Given the description of an element on the screen output the (x, y) to click on. 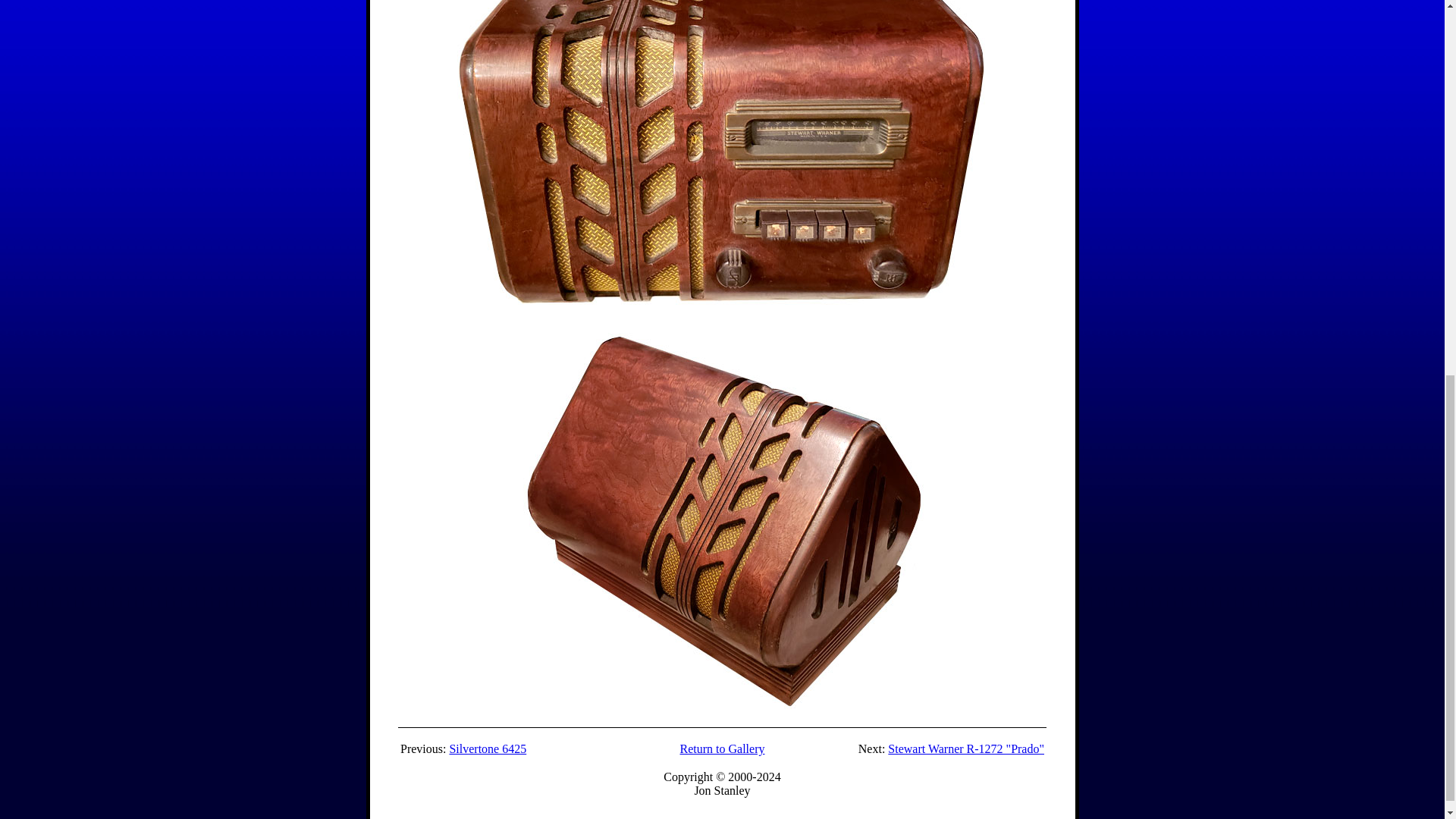
Return to Gallery (721, 748)
Stewart Warner R-1272 "Prado" (965, 748)
Silvertone 6425 (486, 748)
